Given the description of an element on the screen output the (x, y) to click on. 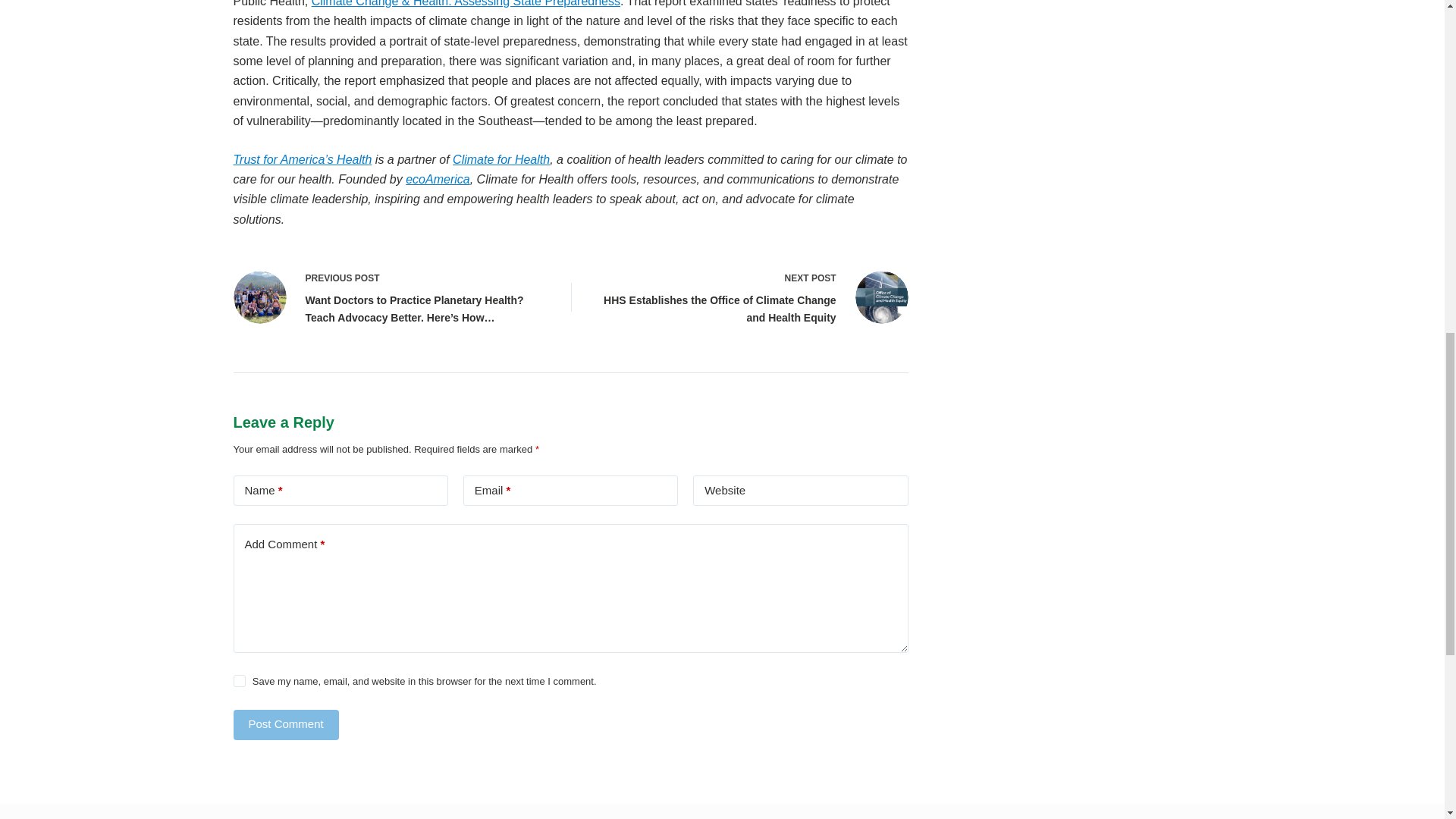
yes (239, 680)
